Given the description of an element on the screen output the (x, y) to click on. 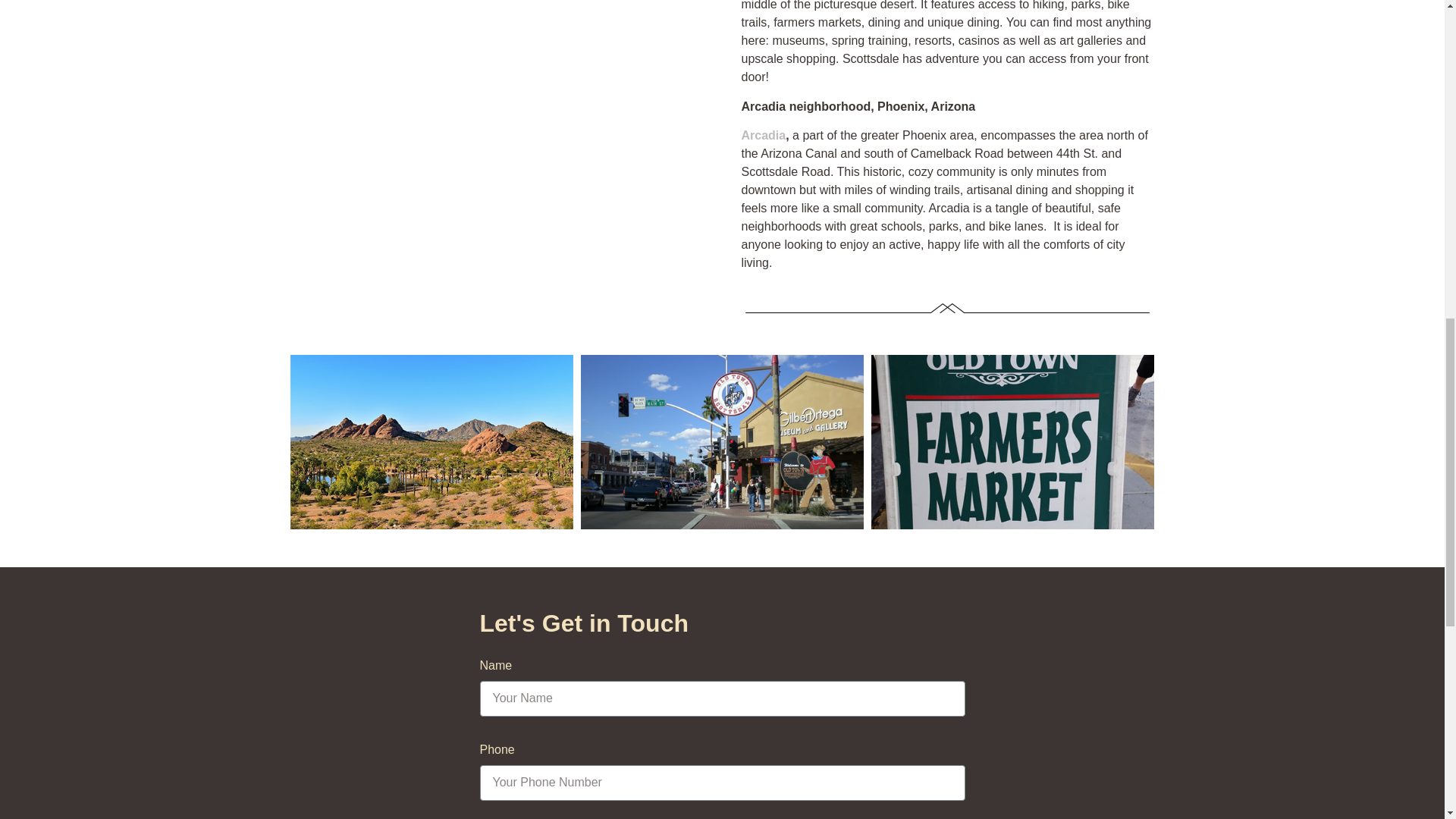
Scottsdale, AZ (496, 71)
Arcadia (763, 134)
